Given the description of an element on the screen output the (x, y) to click on. 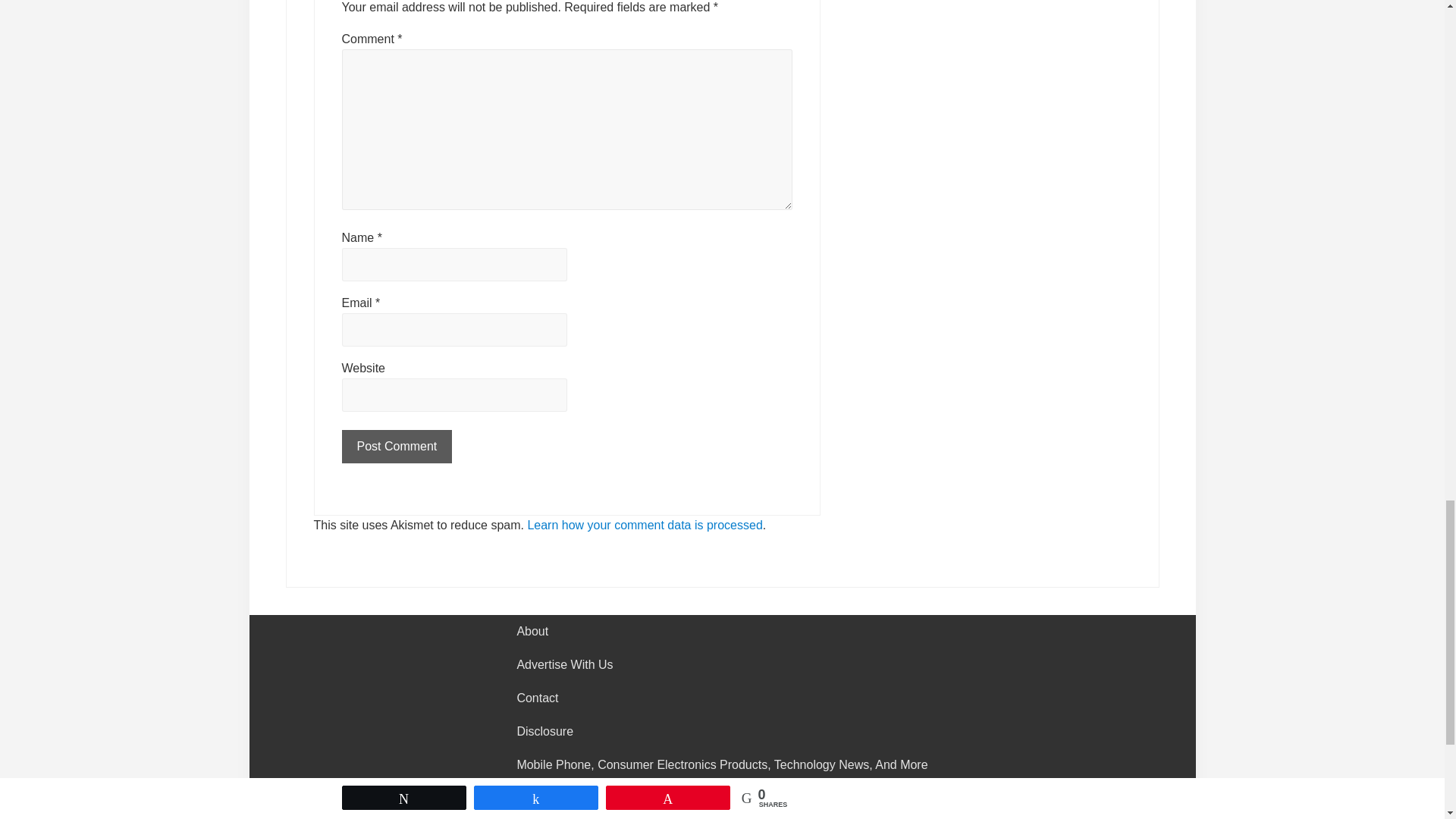
Disclosure (721, 731)
Advertise With Us (721, 664)
Learn how your comment data is processed (644, 524)
Contact (721, 697)
Post Comment (395, 446)
Post Comment (395, 446)
Privacy Policy (721, 798)
About (721, 631)
